Given the description of an element on the screen output the (x, y) to click on. 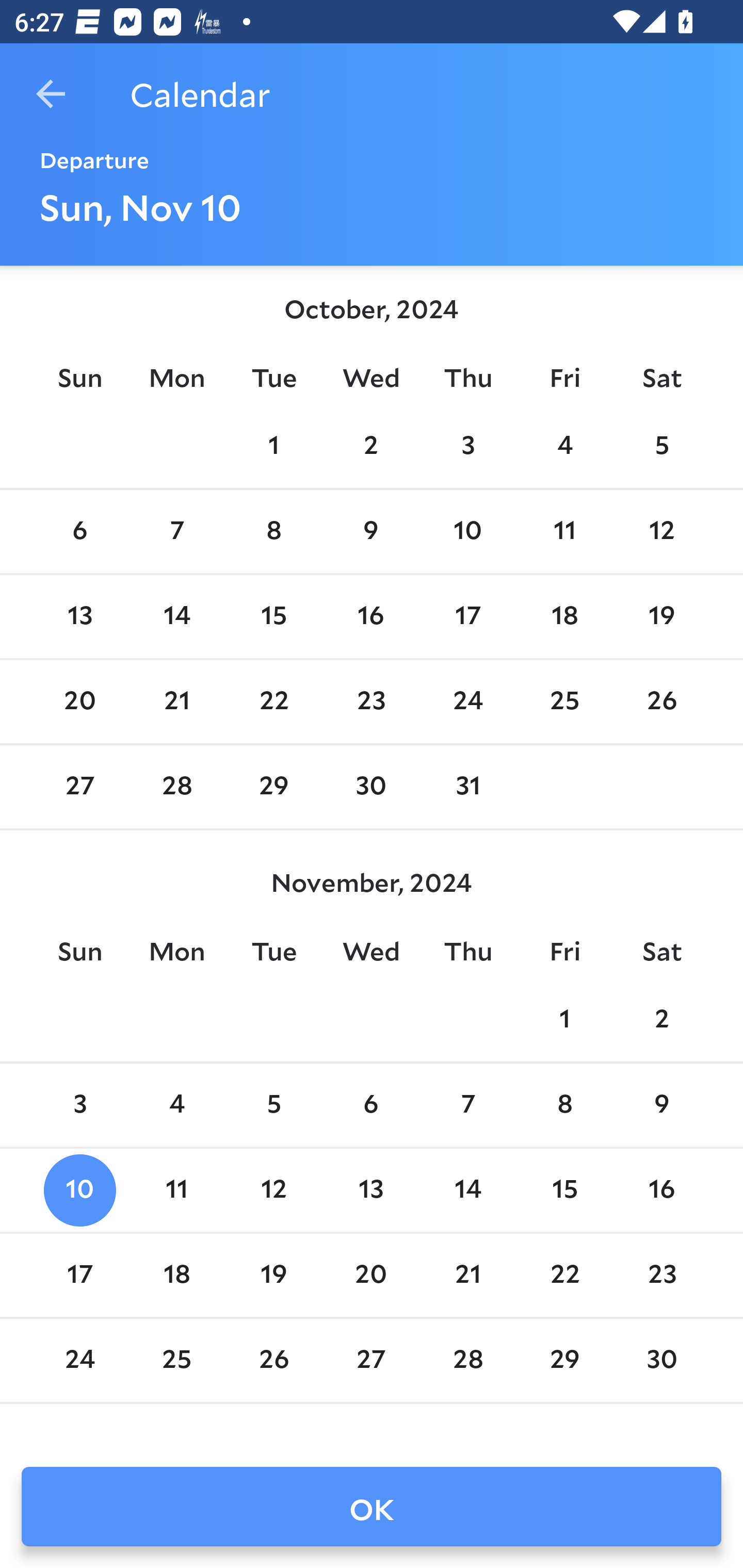
Navigate up (50, 93)
1 (273, 446)
2 (371, 446)
3 (467, 446)
4 (565, 446)
5 (661, 446)
6 (79, 531)
7 (177, 531)
8 (273, 531)
9 (371, 531)
10 (467, 531)
11 (565, 531)
12 (661, 531)
13 (79, 616)
14 (177, 616)
15 (273, 616)
16 (371, 616)
17 (467, 616)
18 (565, 616)
19 (661, 616)
20 (79, 702)
21 (177, 702)
22 (273, 702)
23 (371, 702)
24 (467, 702)
25 (565, 702)
26 (661, 702)
27 (79, 787)
28 (177, 787)
29 (273, 787)
30 (371, 787)
31 (467, 787)
1 (565, 1020)
2 (661, 1020)
3 (79, 1105)
4 (177, 1105)
5 (273, 1105)
6 (371, 1105)
7 (467, 1105)
8 (565, 1105)
9 (661, 1105)
10 (79, 1190)
11 (177, 1190)
12 (273, 1190)
13 (371, 1190)
14 (467, 1190)
15 (565, 1190)
16 (661, 1190)
17 (79, 1275)
18 (177, 1275)
